Given the description of an element on the screen output the (x, y) to click on. 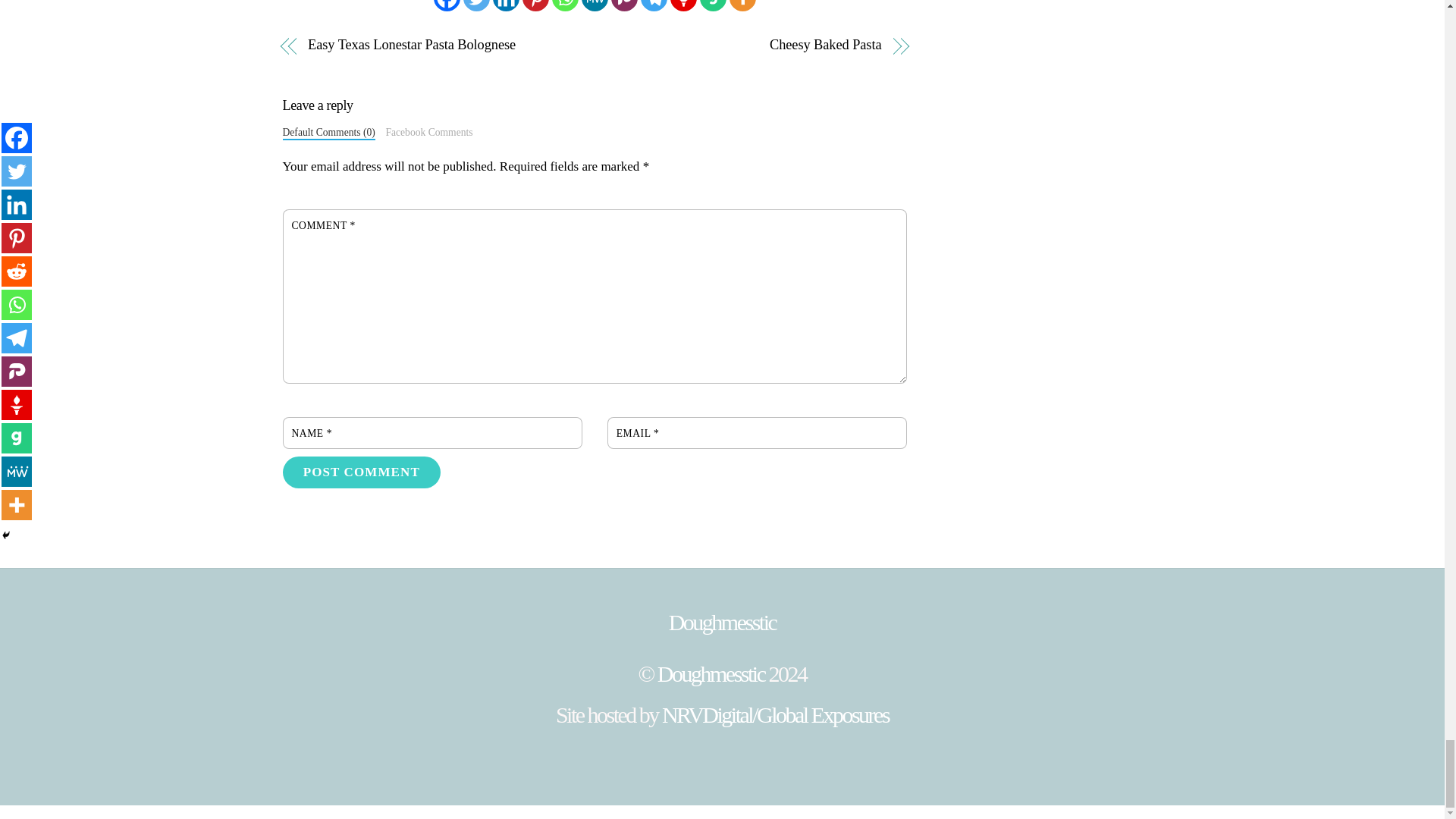
MeWe (594, 5)
Whatsapp (564, 5)
Gettr (683, 5)
Twitter (476, 5)
Linkedin (506, 5)
Telegram (653, 5)
Parler (624, 5)
Pinterest (535, 5)
Post Comment (361, 472)
Facebook (446, 5)
